Given the description of an element on the screen output the (x, y) to click on. 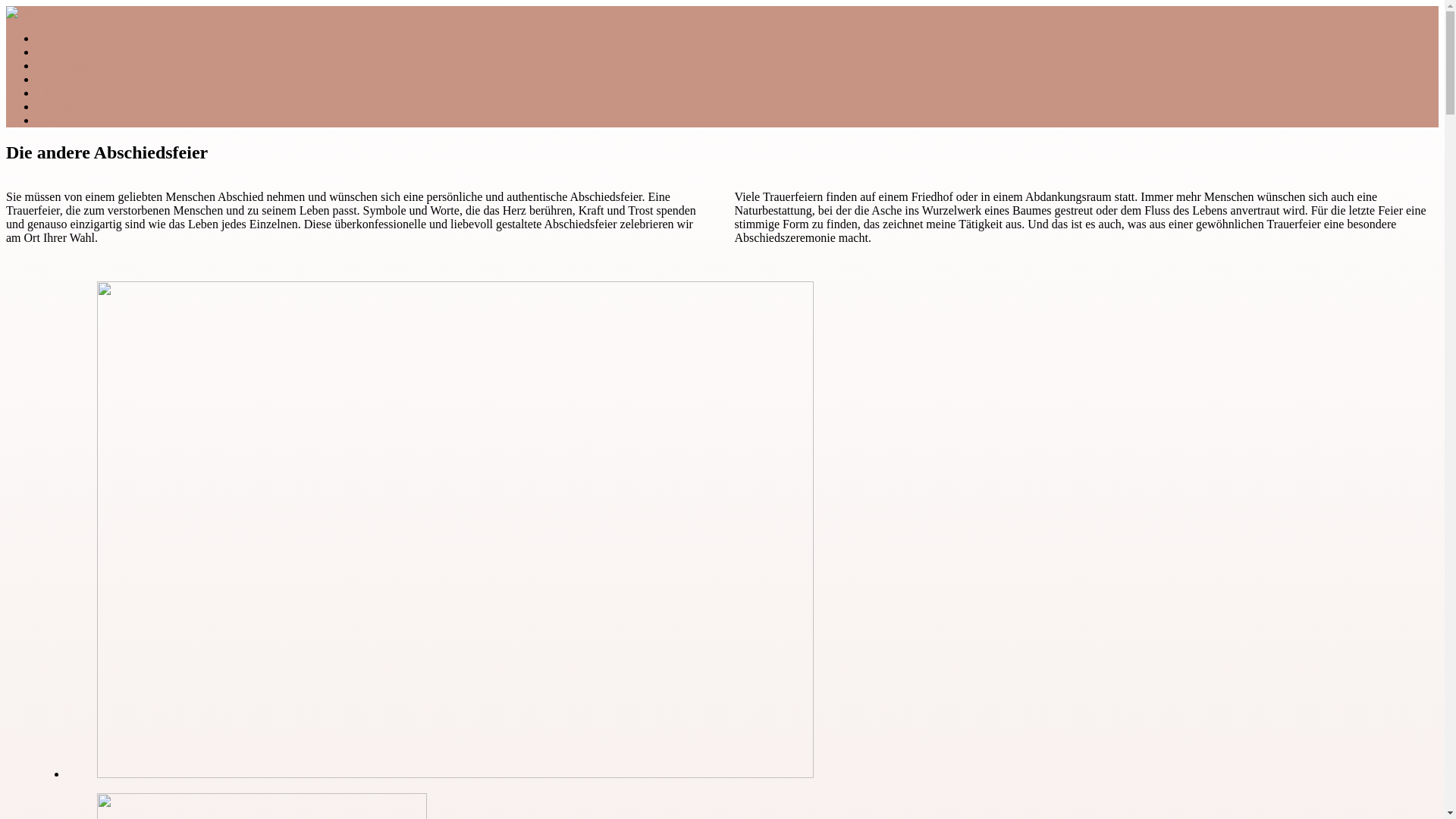
Medien Element type: text (54, 106)
Kontakt Element type: text (55, 119)
Beratung Element type: text (58, 51)
Kosten Element type: text (53, 78)
Meinungen Element type: text (63, 65)
Trauerfeier Element type: text (63, 37)
